Given the description of an element on the screen output the (x, y) to click on. 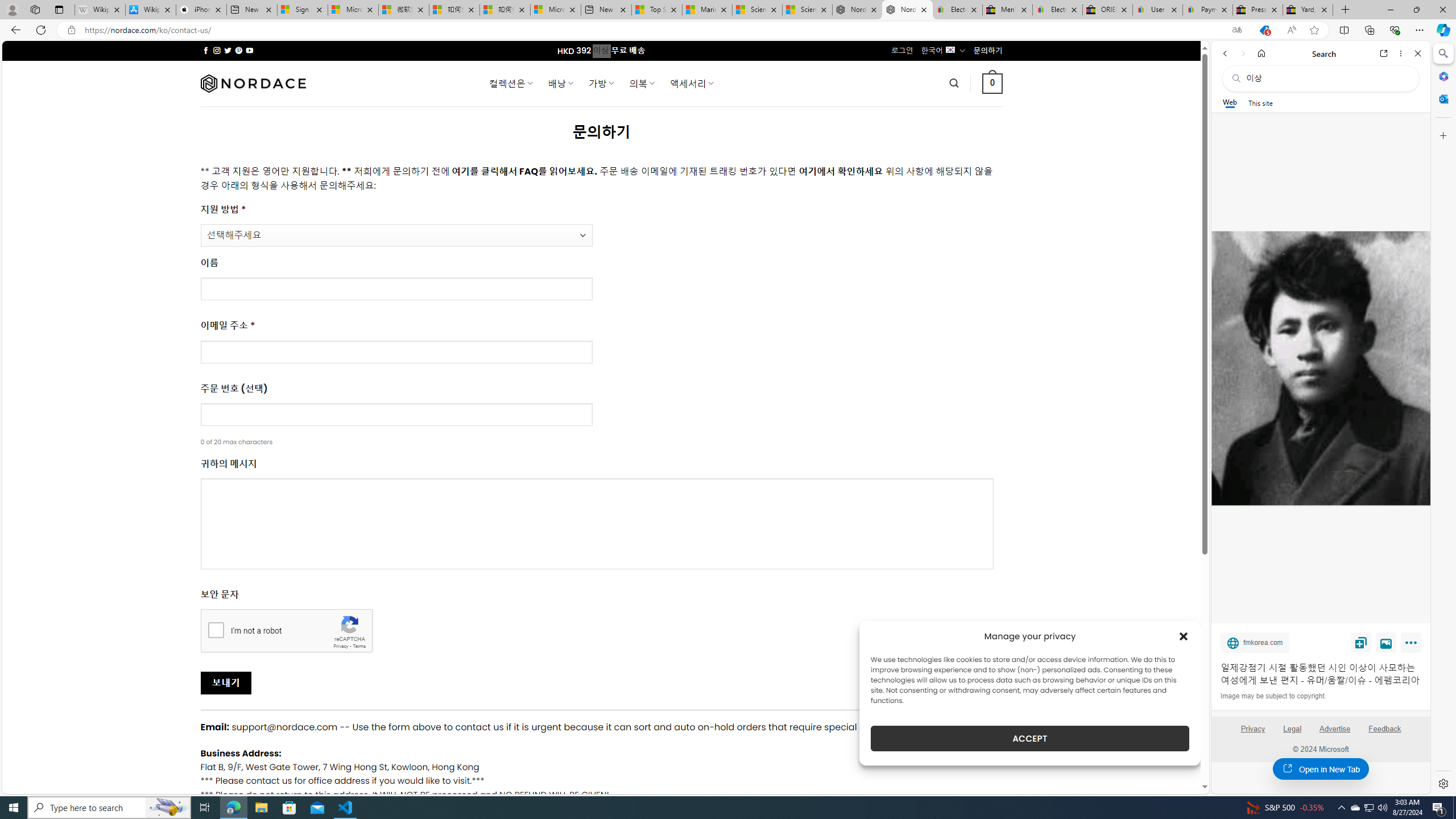
  0   (992, 83)
